Given the description of an element on the screen output the (x, y) to click on. 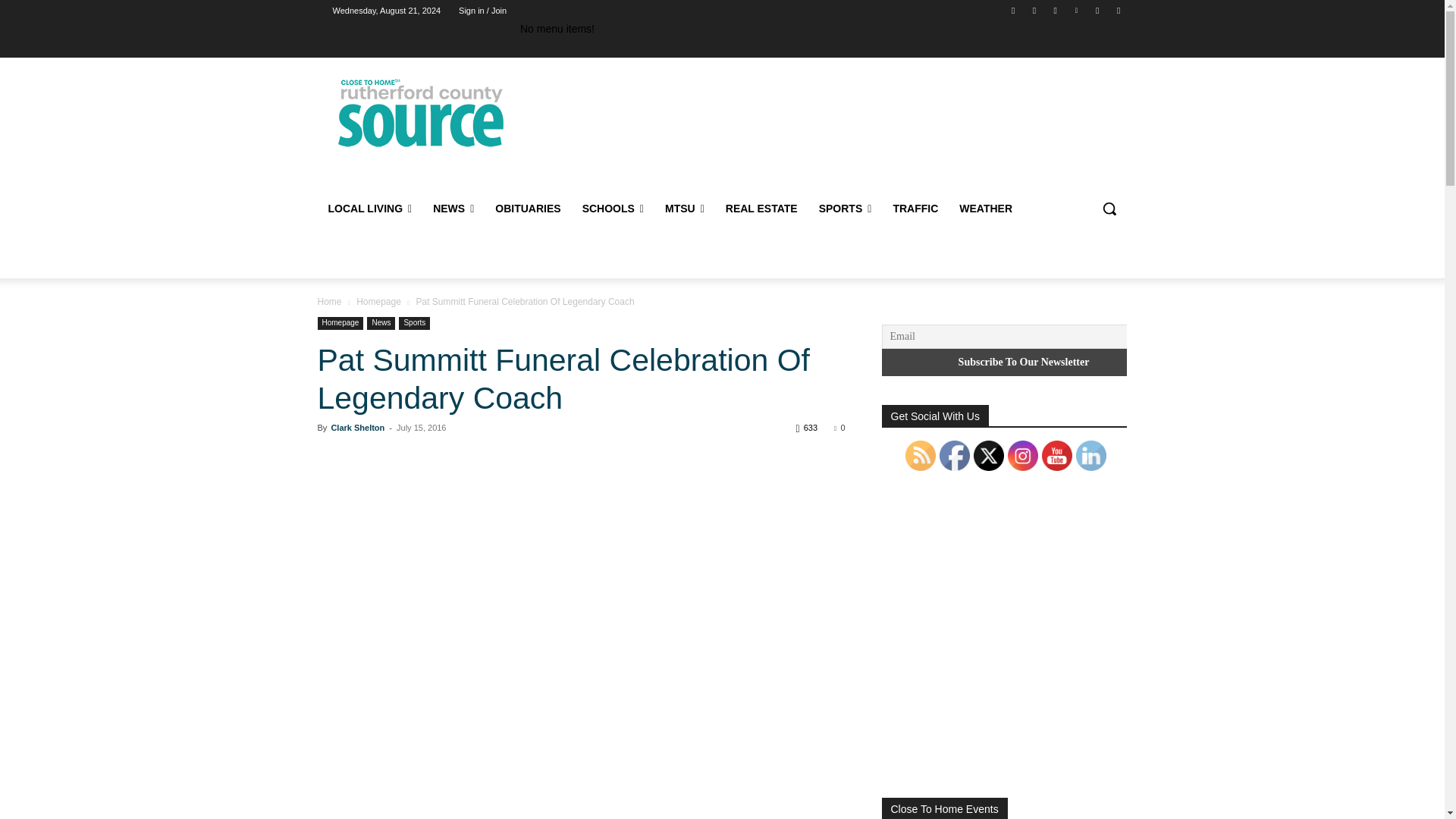
Youtube (1117, 9)
Subscribe To Our Newsletter (1023, 361)
Instagram (1055, 9)
Flipboard (1034, 9)
Facebook (1013, 9)
Linkedin (1075, 9)
Twitter (1097, 9)
